Given the description of an element on the screen output the (x, y) to click on. 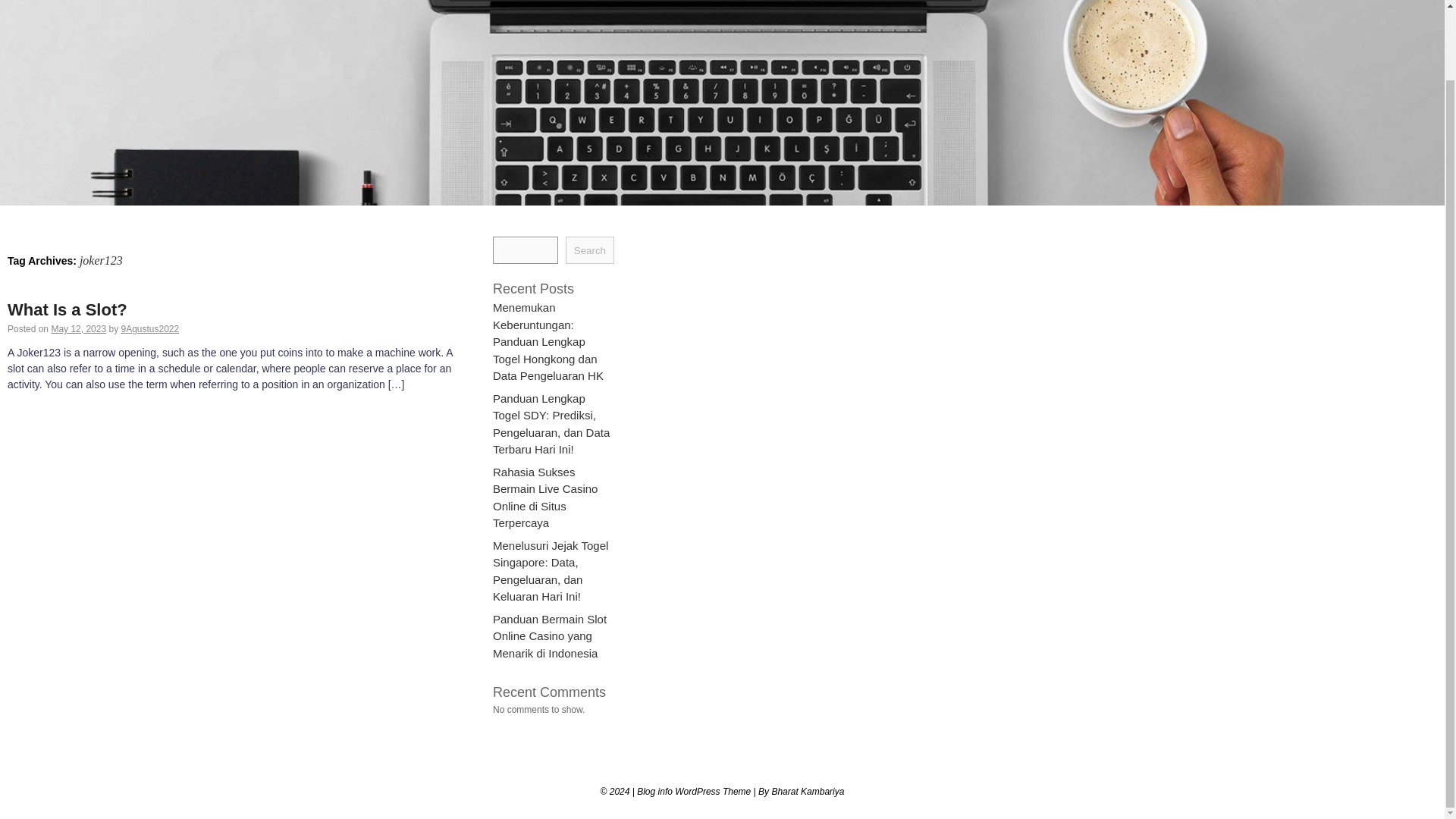
View all posts by 9Agustus2022 (149, 328)
Permalink to What Is a Slot? (67, 309)
3:00 pm (78, 328)
Panduan Bermain Slot Online Casino yang Menarik di Indonesia (550, 636)
What Is a Slot? (67, 309)
May 12, 2023 (78, 328)
9Agustus2022 (149, 328)
Search (590, 249)
